Given the description of an element on the screen output the (x, y) to click on. 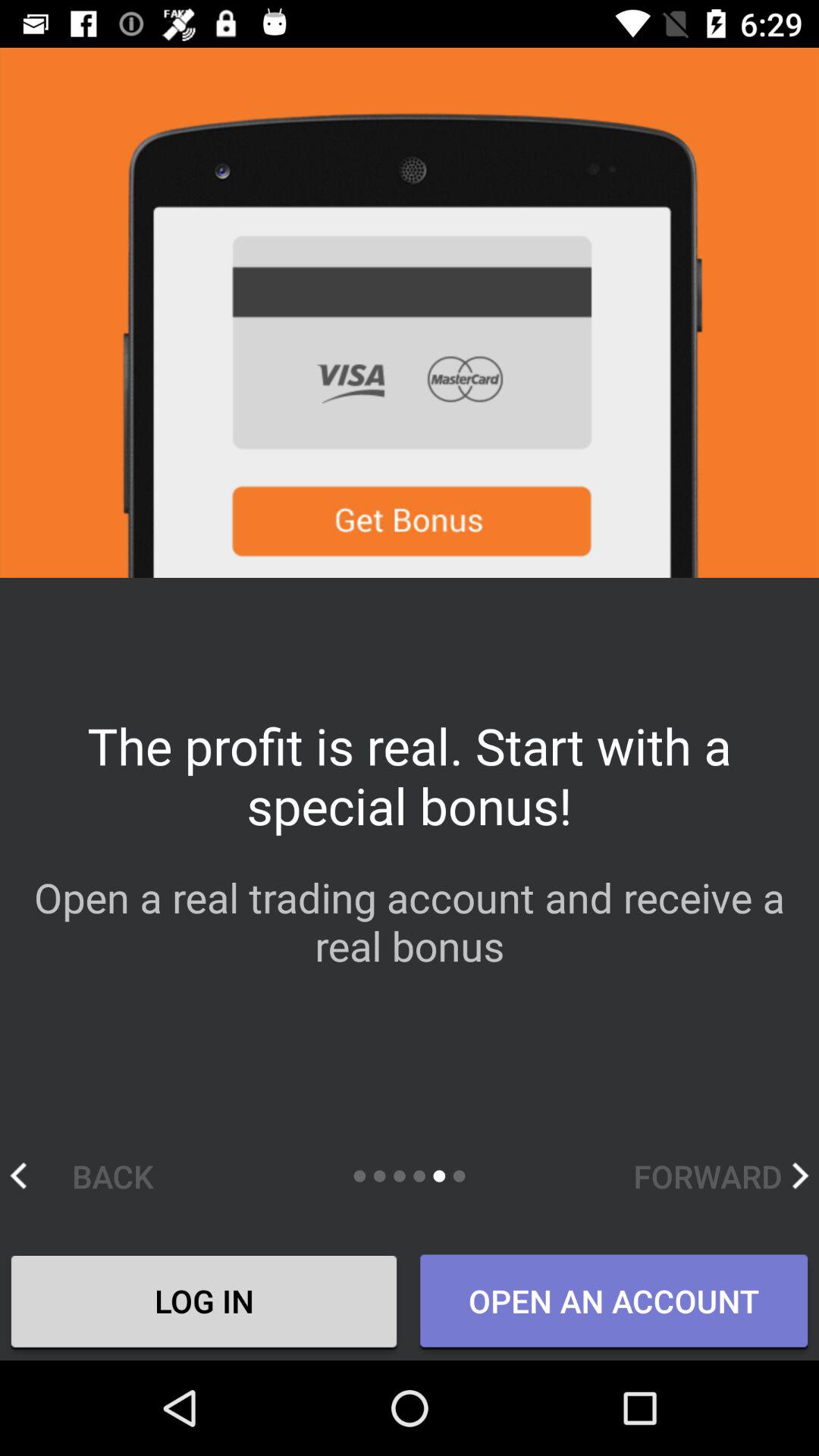
press the icon next to the open an account (204, 1303)
